Given the description of an element on the screen output the (x, y) to click on. 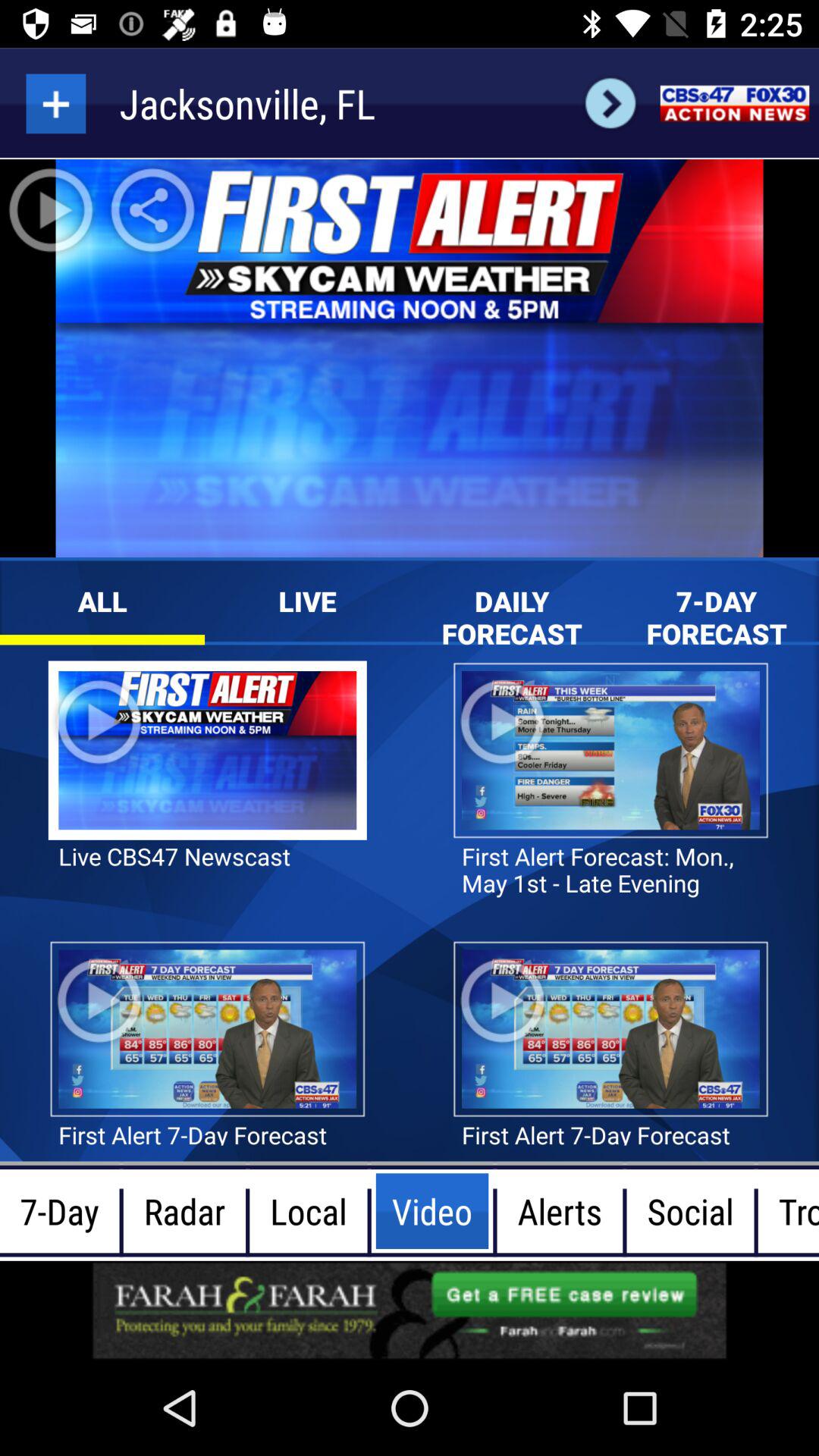
advertisement banner (409, 1310)
